Given the description of an element on the screen output the (x, y) to click on. 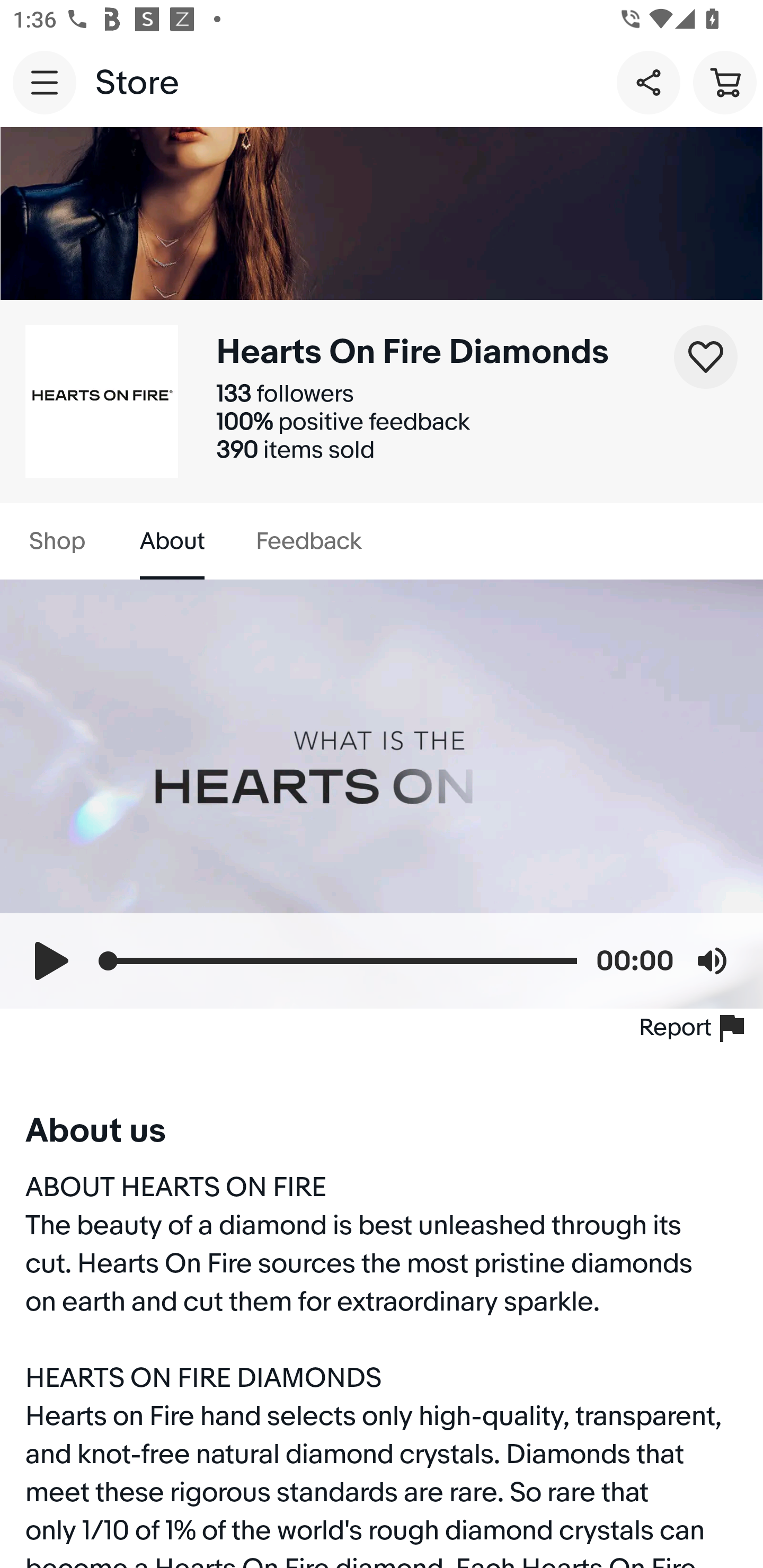
Main navigation, open (44, 82)
Share this page (648, 81)
Cart button shopping cart (724, 81)
Save this seller hearts_on_fire (705, 356)
Shop (57, 541)
Feedback (308, 541)
Play (50, 960)
mute audio (711, 960)
Report (694, 1027)
